Given the description of an element on the screen output the (x, y) to click on. 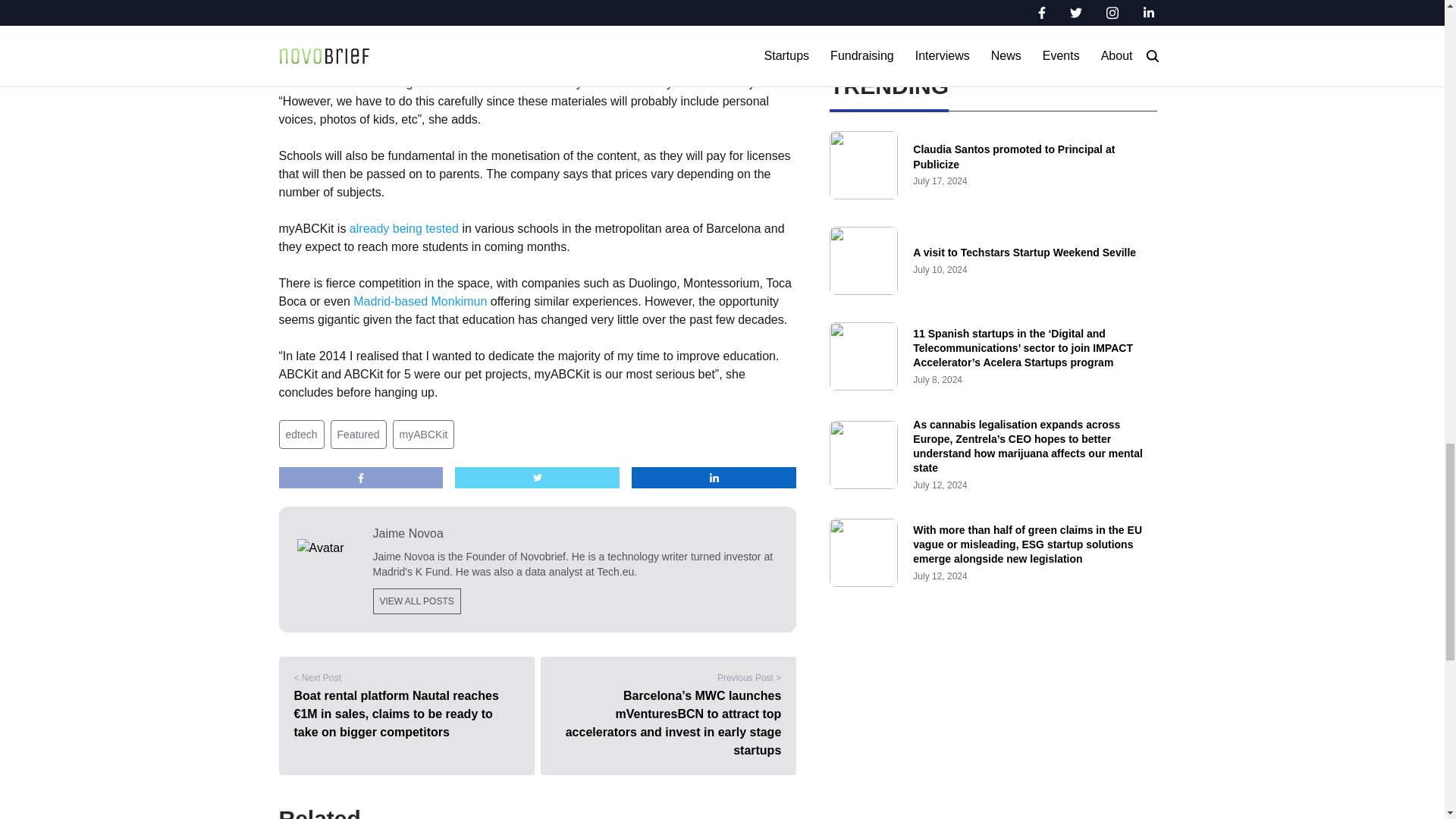
already being tested (403, 228)
edtech (301, 434)
myABCKit (423, 434)
Madrid-based Monkimun (419, 300)
Featured (358, 434)
